Given the description of an element on the screen output the (x, y) to click on. 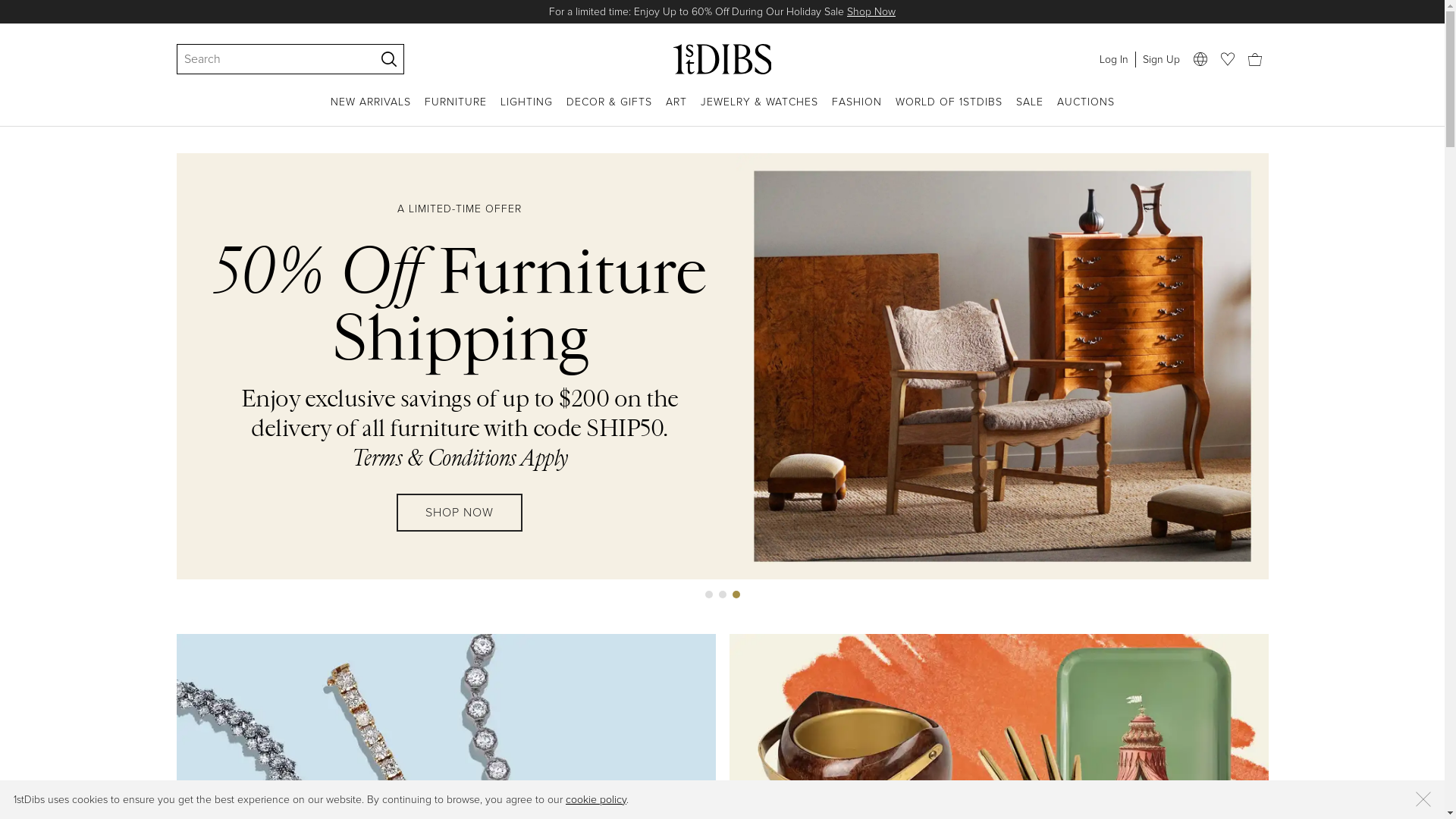
FASHION Element type: text (856, 109)
DECOR & GIFTS Element type: text (608, 109)
JEWELRY & WATCHES Element type: text (759, 109)
SALE Element type: text (1029, 109)
AUCTIONS Element type: text (1085, 109)
NEW ARRIVALS Element type: text (370, 109)
Search Element type: hover (268, 58)
Details Element type: text (885, 11)
ART Element type: text (676, 109)
cookie policy Element type: text (595, 799)
FURNITURE Element type: text (455, 109)
WORLD OF 1STDIBS Element type: text (947, 109)
Log In Element type: text (1113, 59)
Sign Up Element type: text (1160, 59)
SHOP THE SALE Element type: text (459, 497)
SKIP TO MAIN CONTENT Element type: text (6, 6)
LIGHTING Element type: text (526, 109)
